Given the description of an element on the screen output the (x, y) to click on. 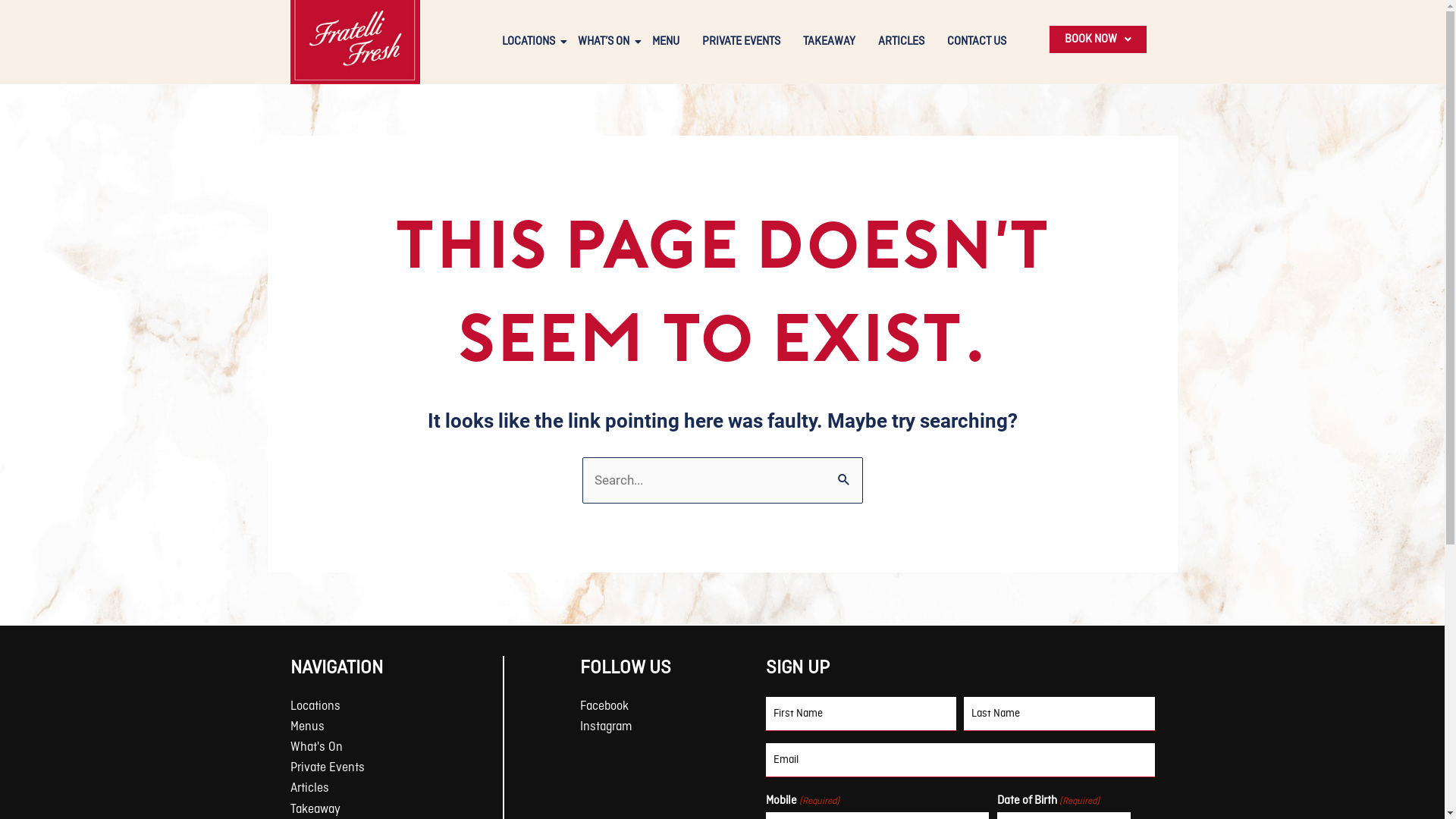
Articles Element type: text (395, 788)
Private Events Element type: text (395, 768)
Instagram Element type: text (672, 727)
Facebook Element type: text (672, 706)
LOCATIONS Element type: text (528, 41)
ARTICLES Element type: text (901, 41)
Search Element type: text (845, 473)
Locations Element type: text (395, 706)
PRIVATE EVENTS Element type: text (741, 41)
MENU Element type: text (665, 41)
TAKEAWAY Element type: text (829, 41)
Menus Element type: text (395, 727)
CONTACT US Element type: text (976, 41)
BOOK NOW Element type: text (1097, 39)
What's On Element type: text (395, 747)
